Given the description of an element on the screen output the (x, y) to click on. 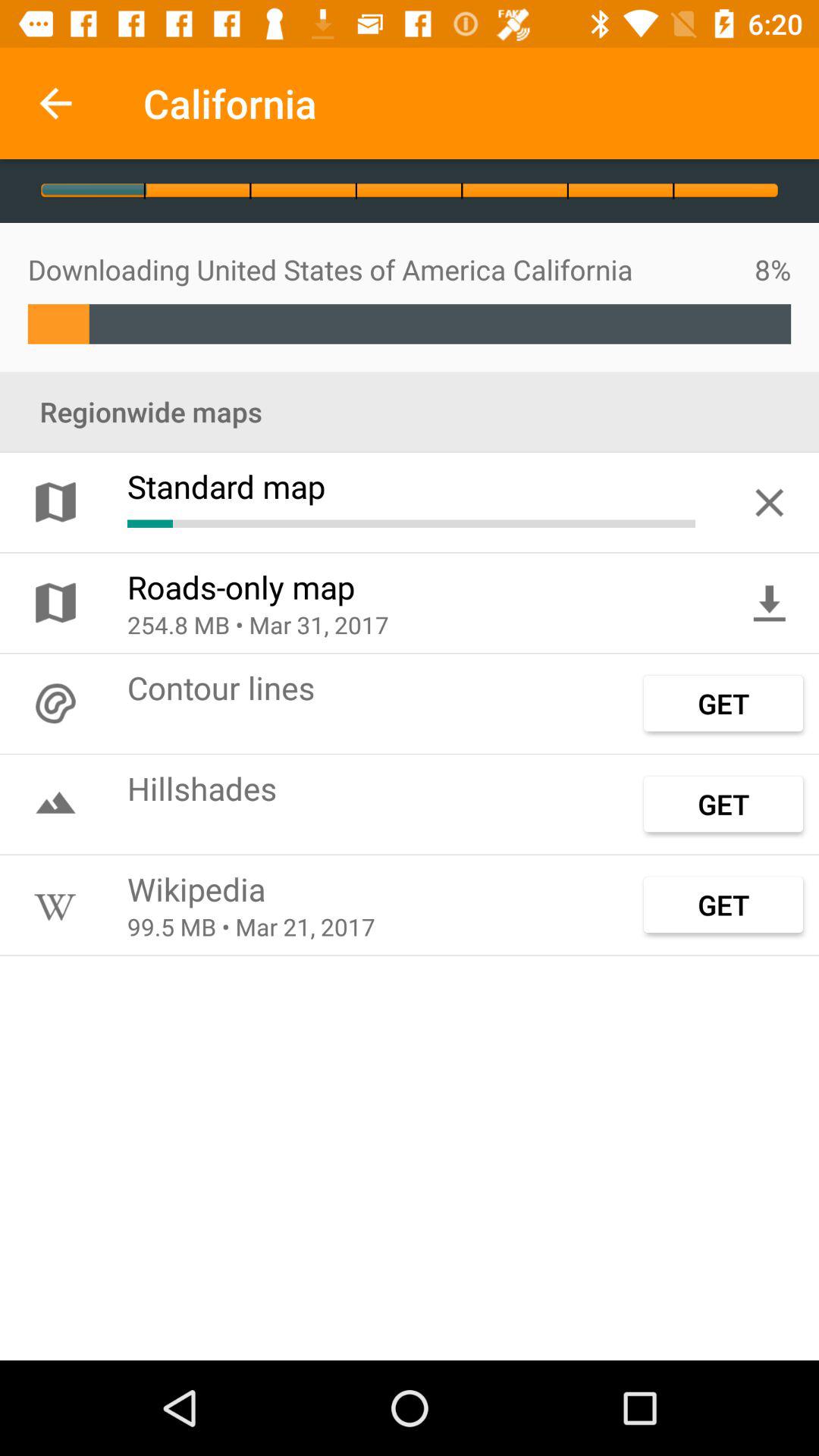
launch the icon to the left of california app (55, 103)
